Given the description of an element on the screen output the (x, y) to click on. 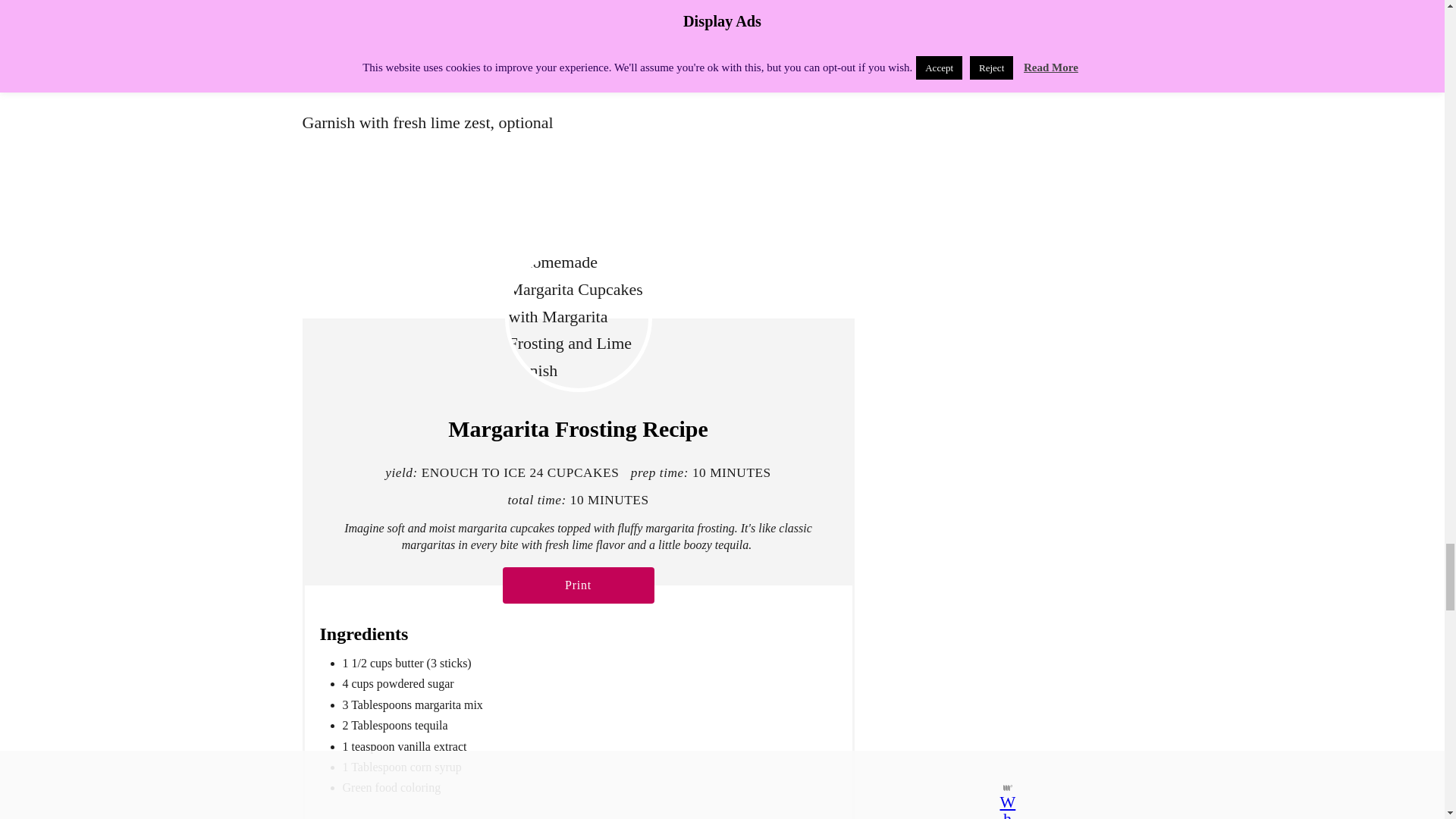
Print (577, 585)
